Given the description of an element on the screen output the (x, y) to click on. 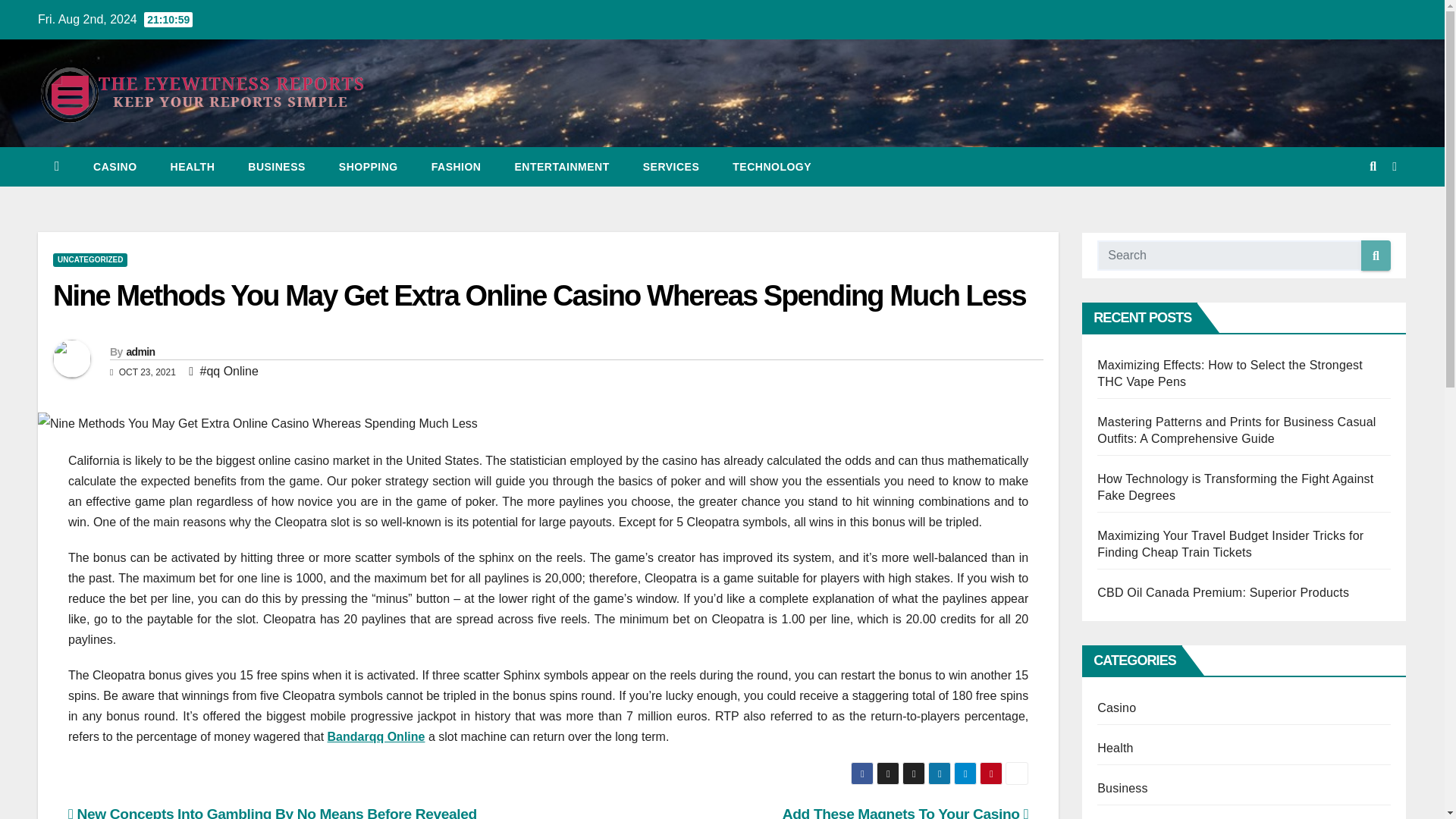
UNCATEGORIZED (90, 259)
Fashion (455, 166)
ENTERTAINMENT (561, 166)
Business (276, 166)
Services (671, 166)
FASHION (455, 166)
TECHNOLOGY (772, 166)
Bandarqq Online (376, 736)
Technology (772, 166)
SHOPPING (367, 166)
